Given the description of an element on the screen output the (x, y) to click on. 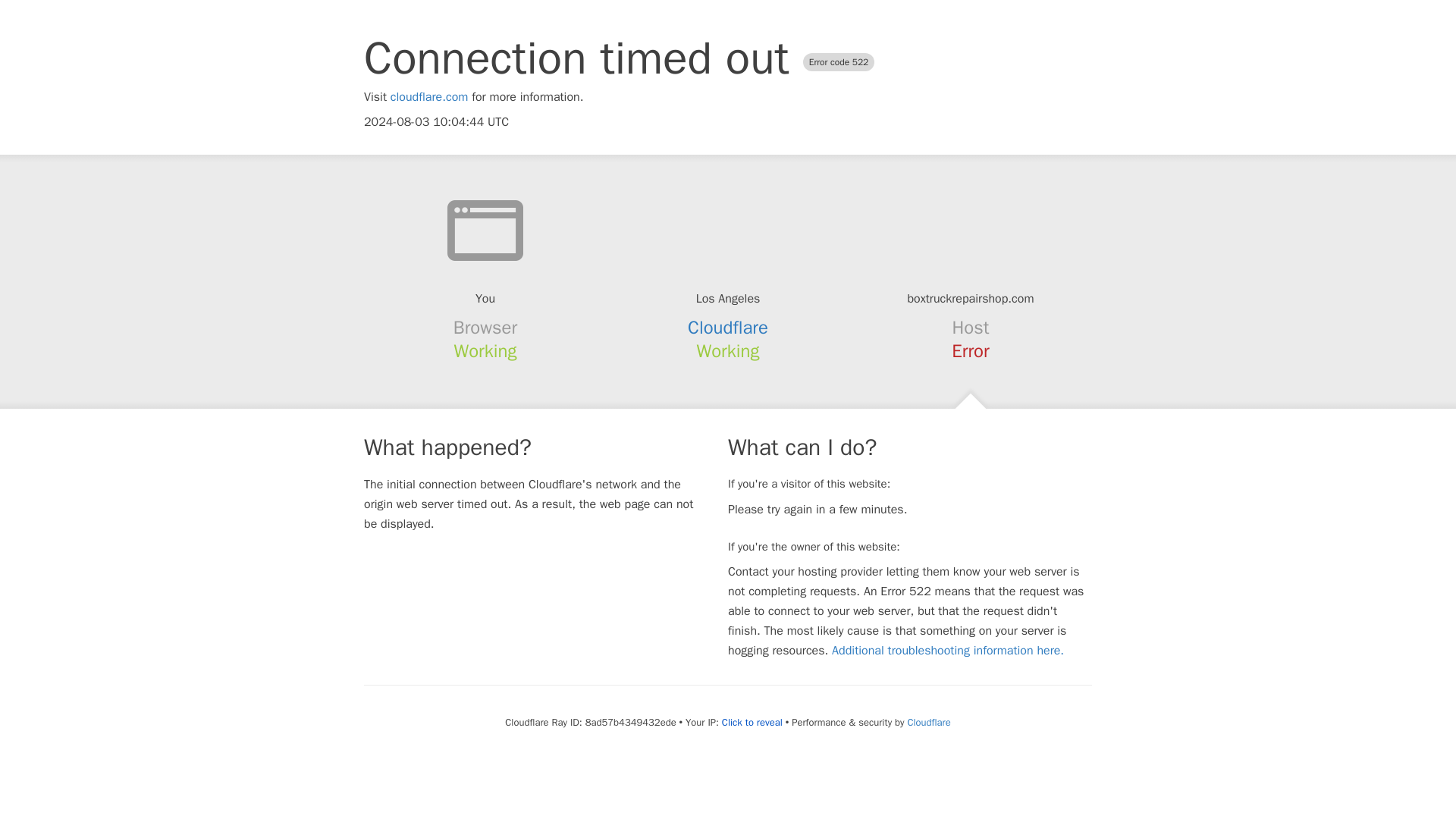
Additional troubleshooting information here. (947, 650)
Click to reveal (752, 722)
Cloudflare (928, 721)
Cloudflare (727, 327)
cloudflare.com (429, 96)
